Given the description of an element on the screen output the (x, y) to click on. 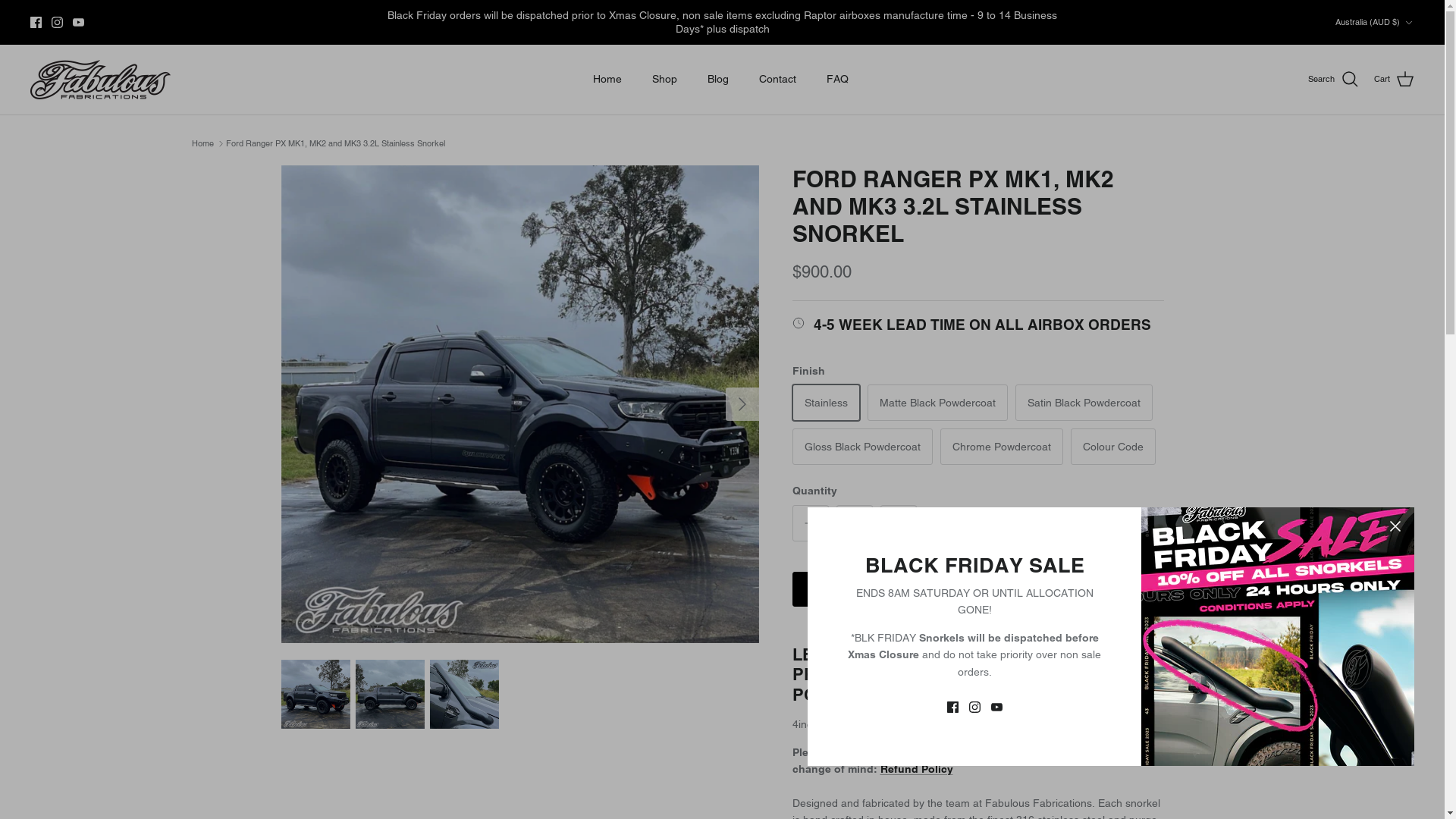
Australia (AUD $)
Down Element type: text (1374, 22)
Shop Element type: text (664, 78)
Add to Cart Element type: text (977, 588)
Search Element type: text (1333, 79)
Home Element type: text (202, 143)
Refund Policy Element type: text (915, 768)
Home Element type: text (607, 78)
Ford Ranger PX MK1, MK2 and MK3 3.2L Stainless Snorkel Element type: text (335, 143)
Plus Element type: text (897, 523)
Fabulous Fabrications Aus Element type: hover (100, 79)
Facebook Element type: text (35, 22)
* Element type: text (1040, 674)
Contact Element type: text (776, 78)
Cart Element type: text (1394, 79)
Blog Element type: text (717, 78)
Instagram Element type: text (56, 22)
Youtube Element type: text (78, 22)
Minus Element type: text (809, 523)
Right Element type: text (741, 403)
FAQ Element type: text (837, 78)
